Given the description of an element on the screen output the (x, y) to click on. 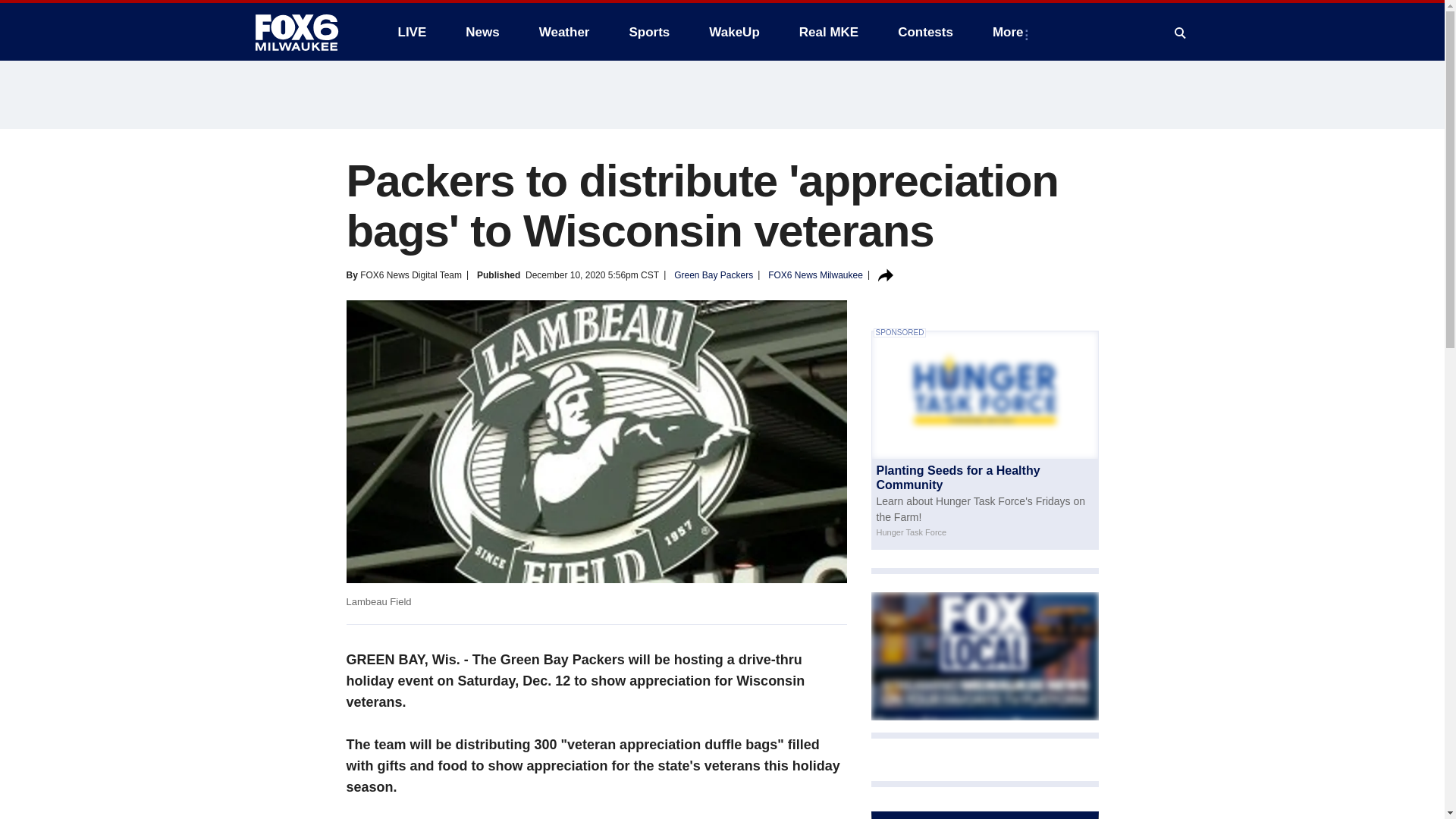
WakeUp (734, 32)
Real MKE (828, 32)
LIVE (411, 32)
Sports (648, 32)
News (481, 32)
Contests (925, 32)
More (1010, 32)
Weather (564, 32)
